Given the description of an element on the screen output the (x, y) to click on. 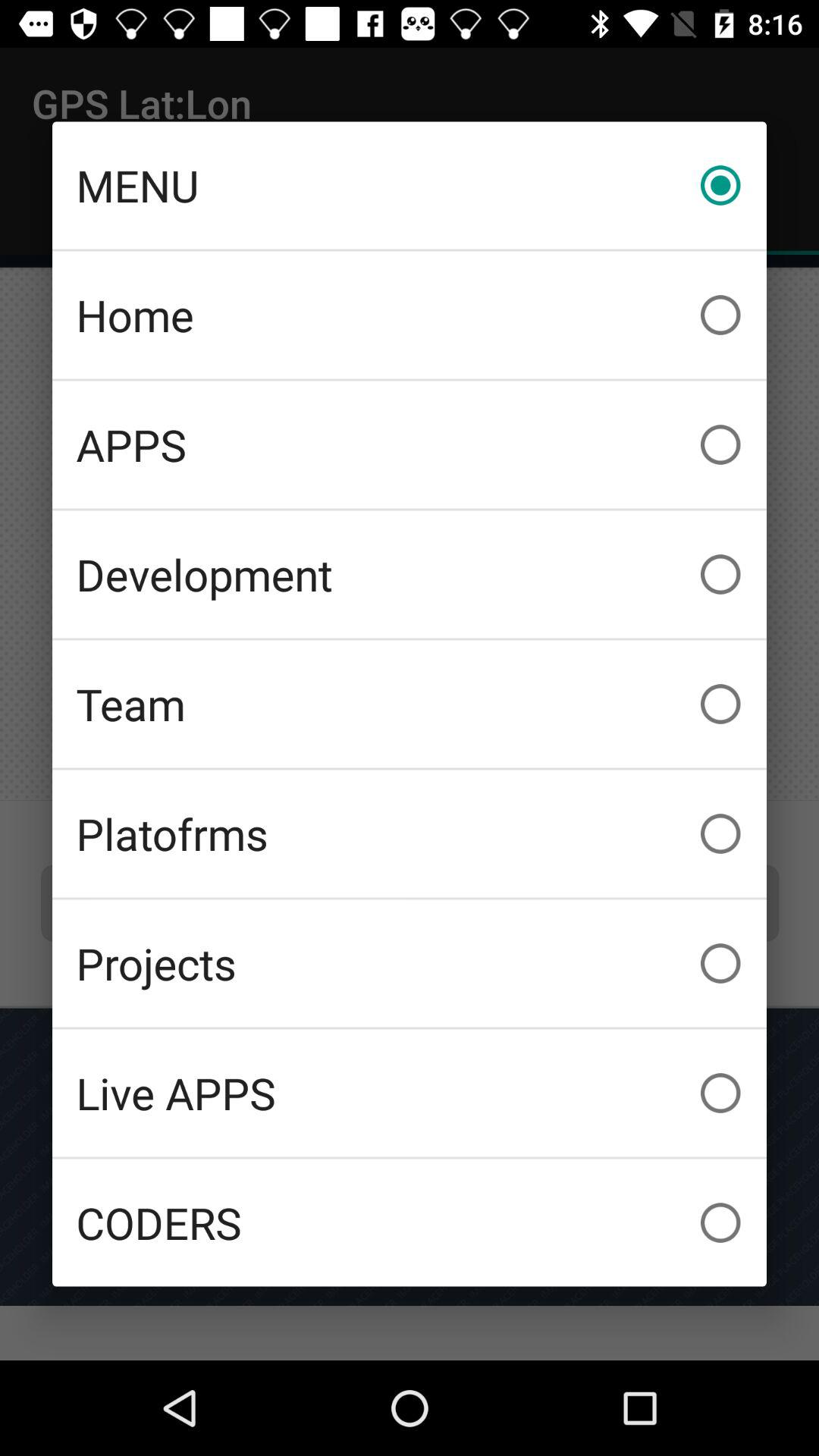
flip until coders icon (409, 1222)
